Given the description of an element on the screen output the (x, y) to click on. 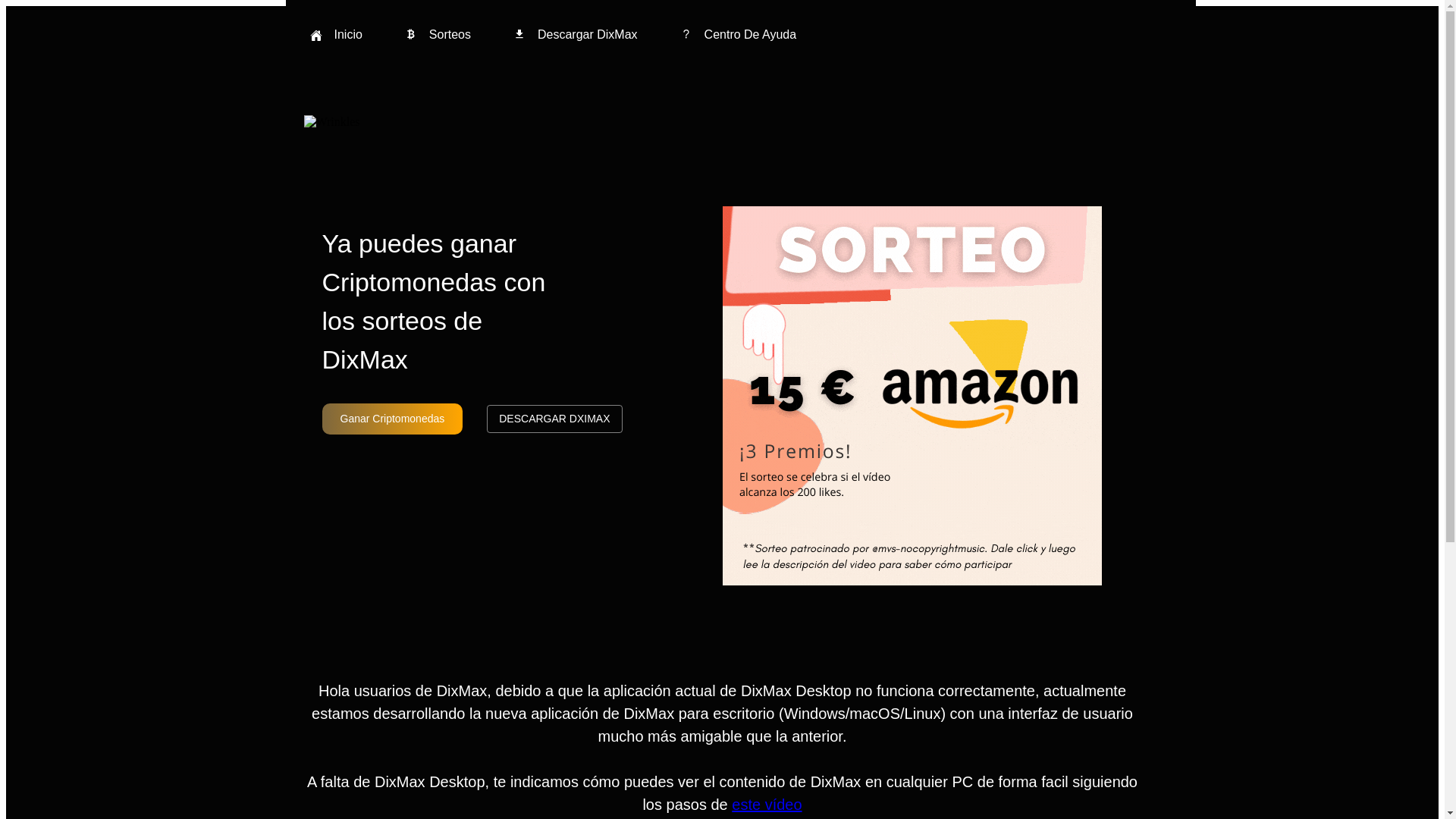
Ganar Criptomonedas Element type: text (391, 418)
Inicio Element type: text (335, 34)
DESCARGAR DXIMAX Element type: text (553, 418)
Sorteos Element type: text (437, 34)
Descargar DixMax Element type: text (575, 34)
Centro De Ayuda Element type: text (738, 34)
